Given the description of an element on the screen output the (x, y) to click on. 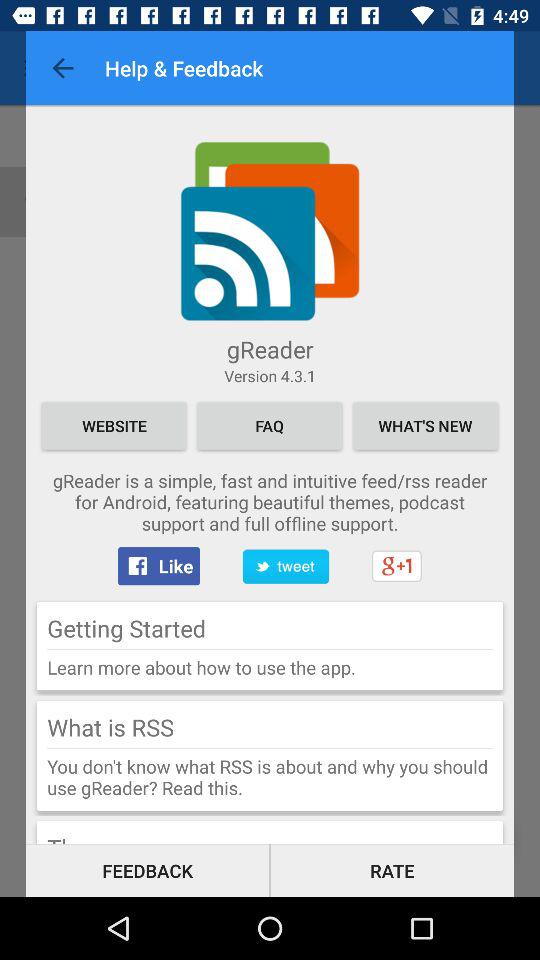
flip until learn more about icon (269, 667)
